Given the description of an element on the screen output the (x, y) to click on. 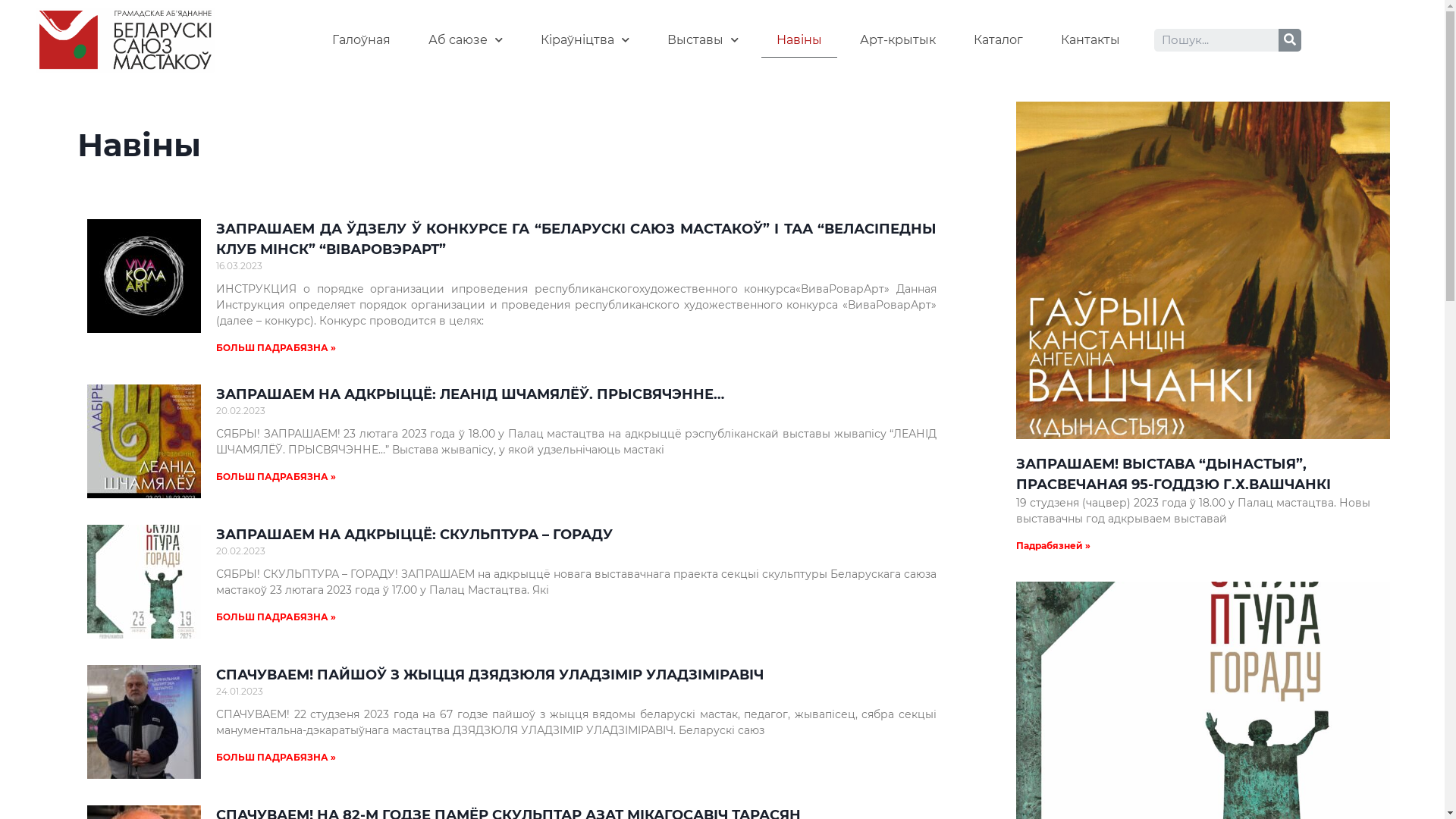
Search Element type: hover (1216, 39)
Search Element type: hover (1289, 39)
